Given the description of an element on the screen output the (x, y) to click on. 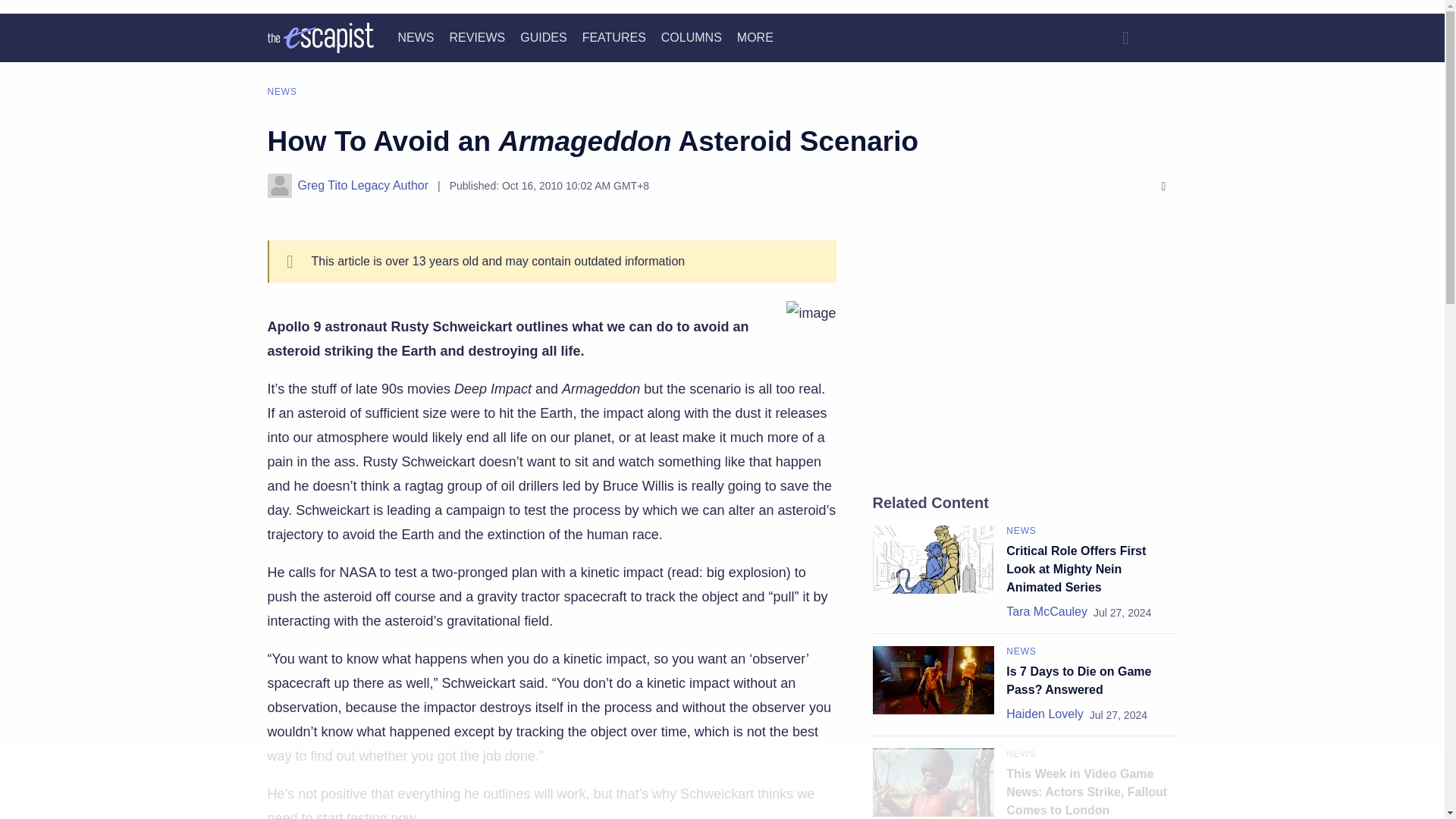
NEWS (415, 37)
Dark Mode (1161, 37)
REVIEWS (476, 37)
COLUMNS (691, 37)
3rd party ad content (721, 785)
GUIDES (542, 37)
Search (1124, 37)
3rd party ad content (1024, 353)
FEATURES (614, 37)
